Given the description of an element on the screen output the (x, y) to click on. 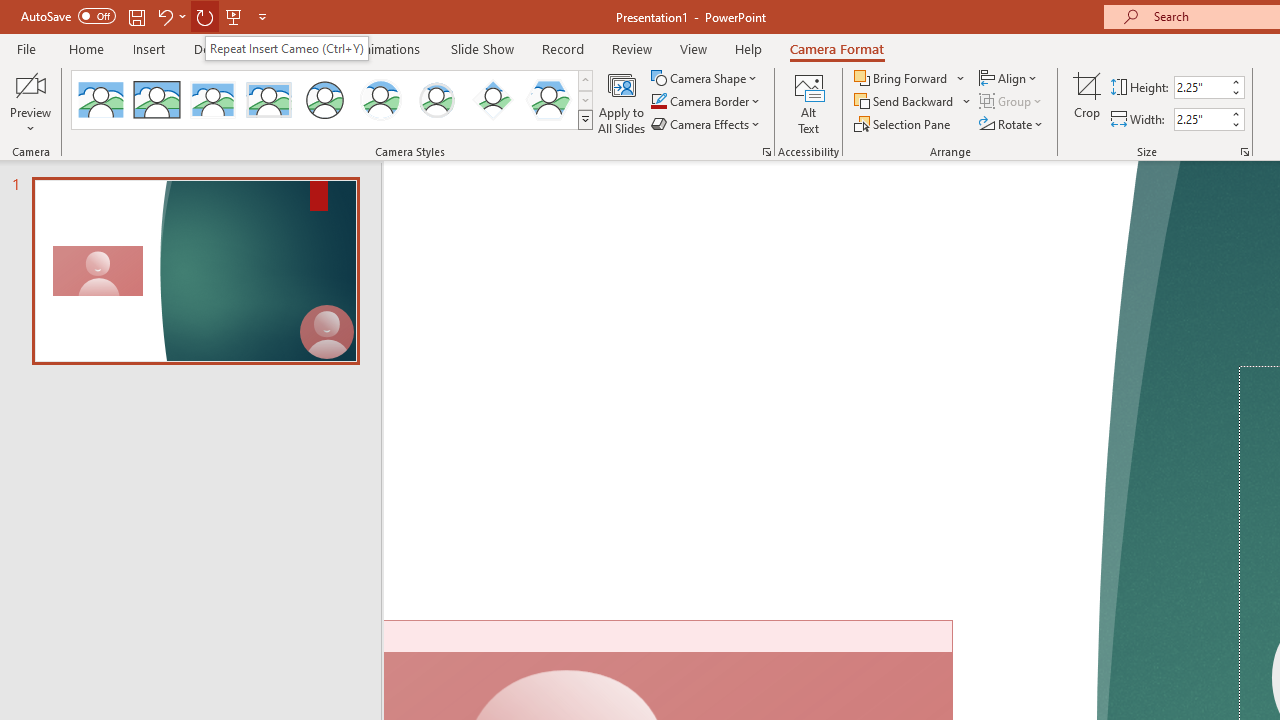
Send Backward (913, 101)
Camera Border Blue, Accent 1 (658, 101)
Align (1009, 78)
Simple Frame Circle (324, 100)
Apply to All Slides (621, 102)
Rotate (1012, 124)
Center Shadow Rectangle (212, 100)
File Tab (26, 48)
Class: NetUIImage (586, 119)
Cameo Height (1201, 87)
Enable Camera Preview (30, 84)
Simple Frame Rectangle (157, 100)
Transitions (294, 48)
Design (214, 48)
